Given the description of an element on the screen output the (x, y) to click on. 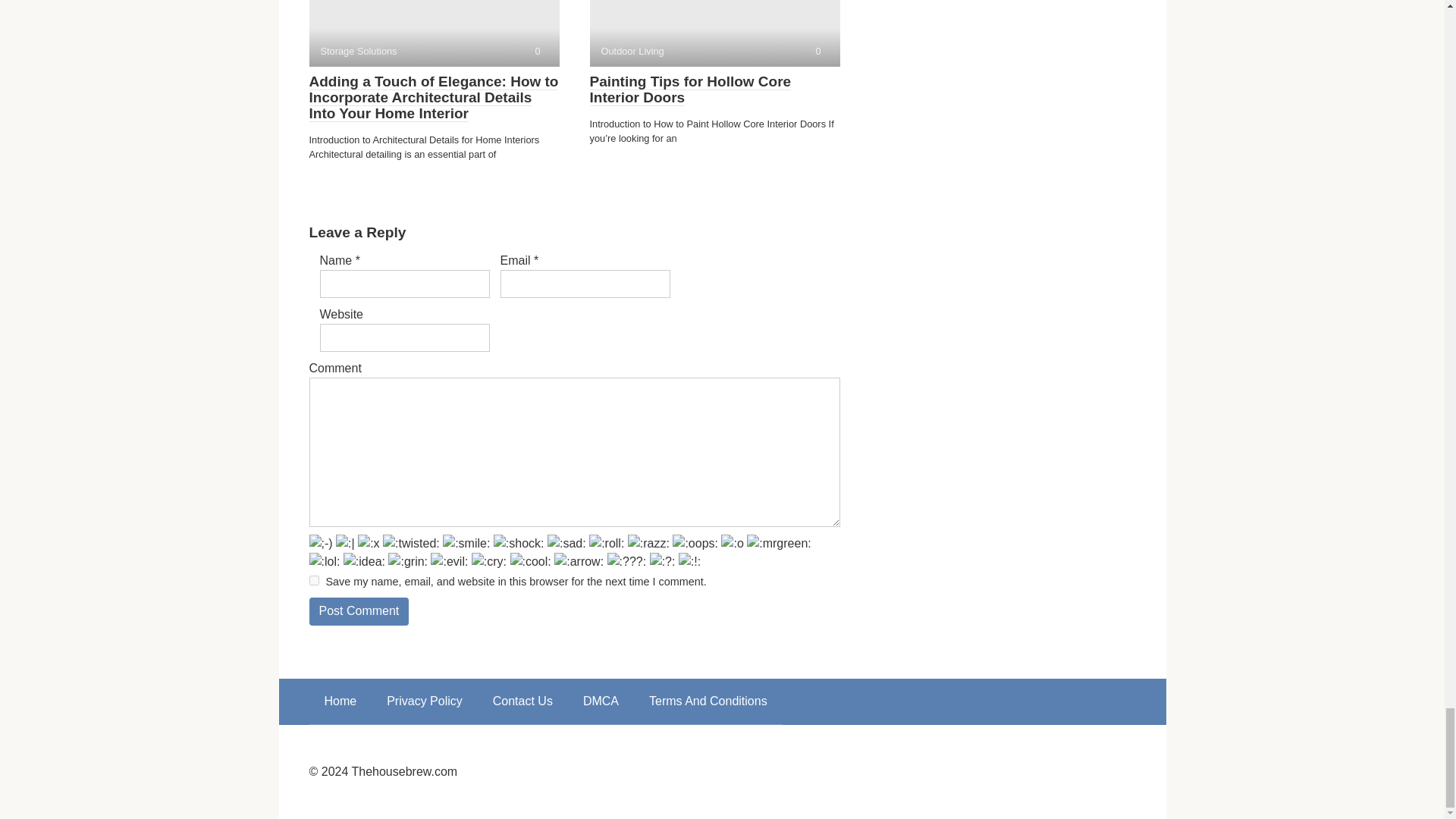
Comments (818, 50)
Post Comment (358, 611)
Comments (537, 50)
yes (313, 580)
